Given the description of an element on the screen output the (x, y) to click on. 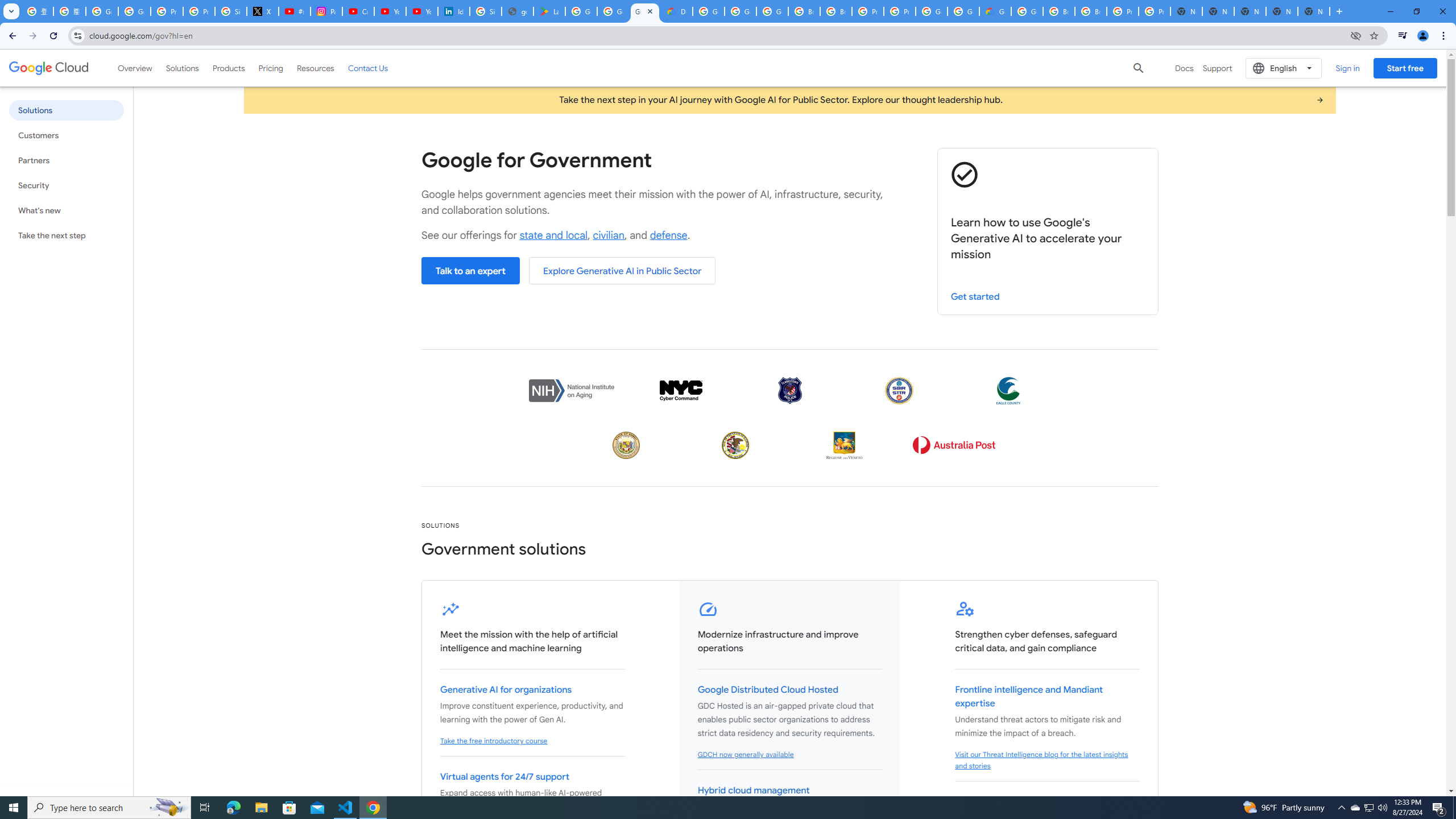
New Tab (1313, 11)
Browse Chrome as a guest - Computer - Google Chrome Help (1059, 11)
Clarkstown Police (789, 390)
Frontline intelligence and Mandiant expertise (1029, 696)
Take the free introductory course (493, 740)
Support (1216, 67)
Virtual agents for 24/7 support (504, 776)
